Given the description of an element on the screen output the (x, y) to click on. 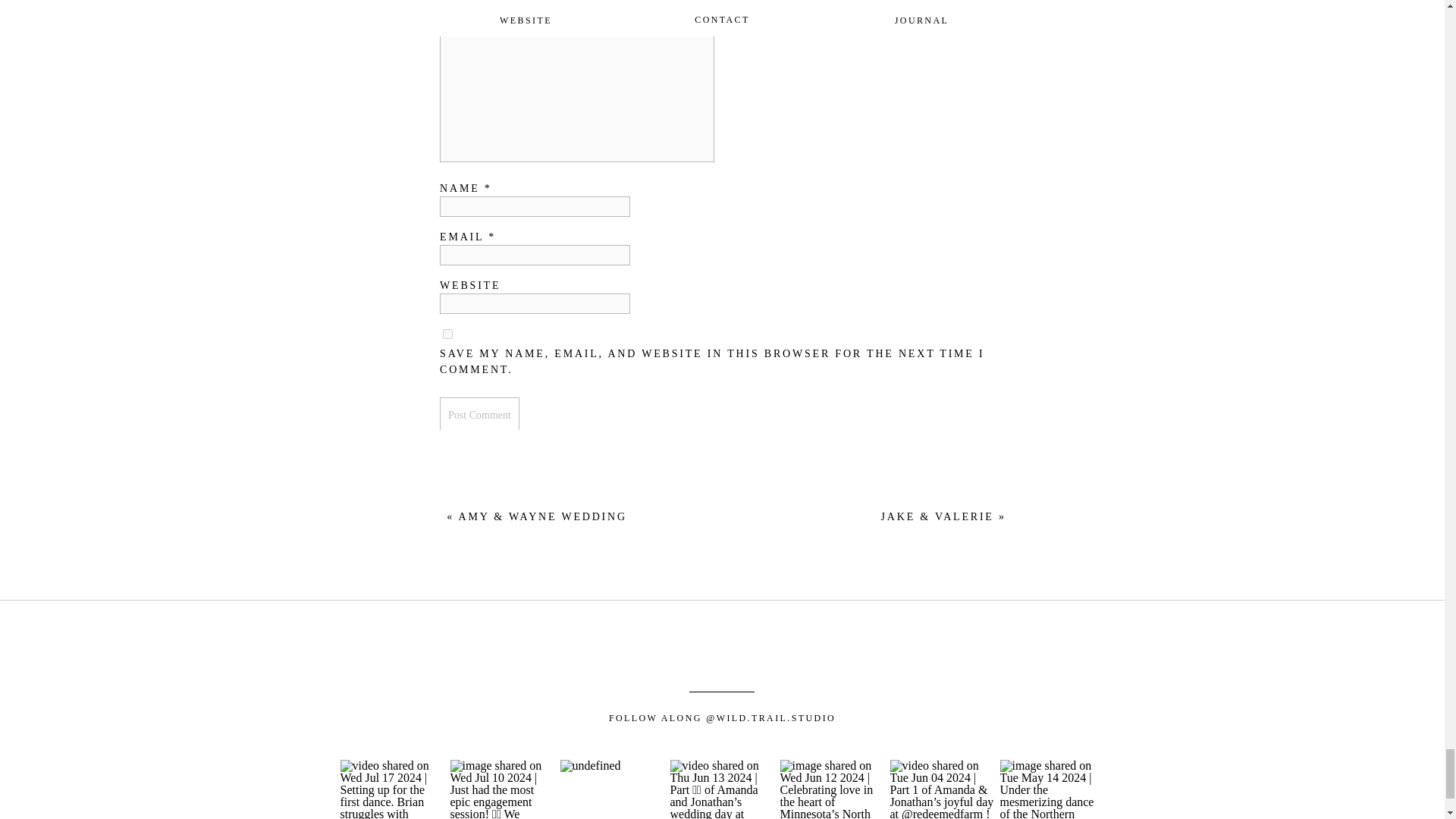
yes (447, 334)
Post Comment (479, 415)
Post Comment (479, 415)
undefined (589, 766)
